Given the description of an element on the screen output the (x, y) to click on. 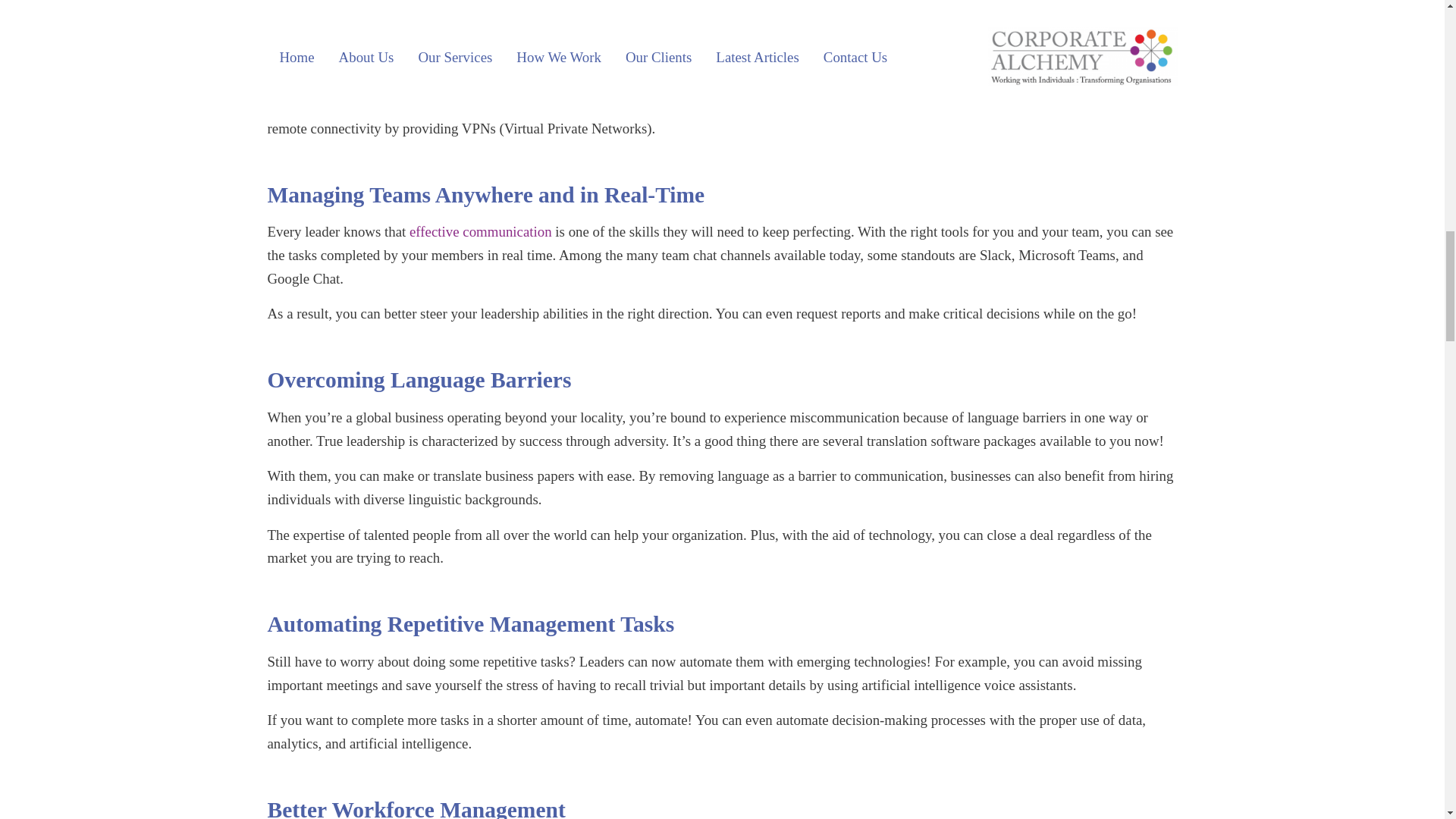
protecting em (435, 105)
yee data (516, 105)
effective communication (480, 231)
plo (483, 105)
